Given the description of an element on the screen output the (x, y) to click on. 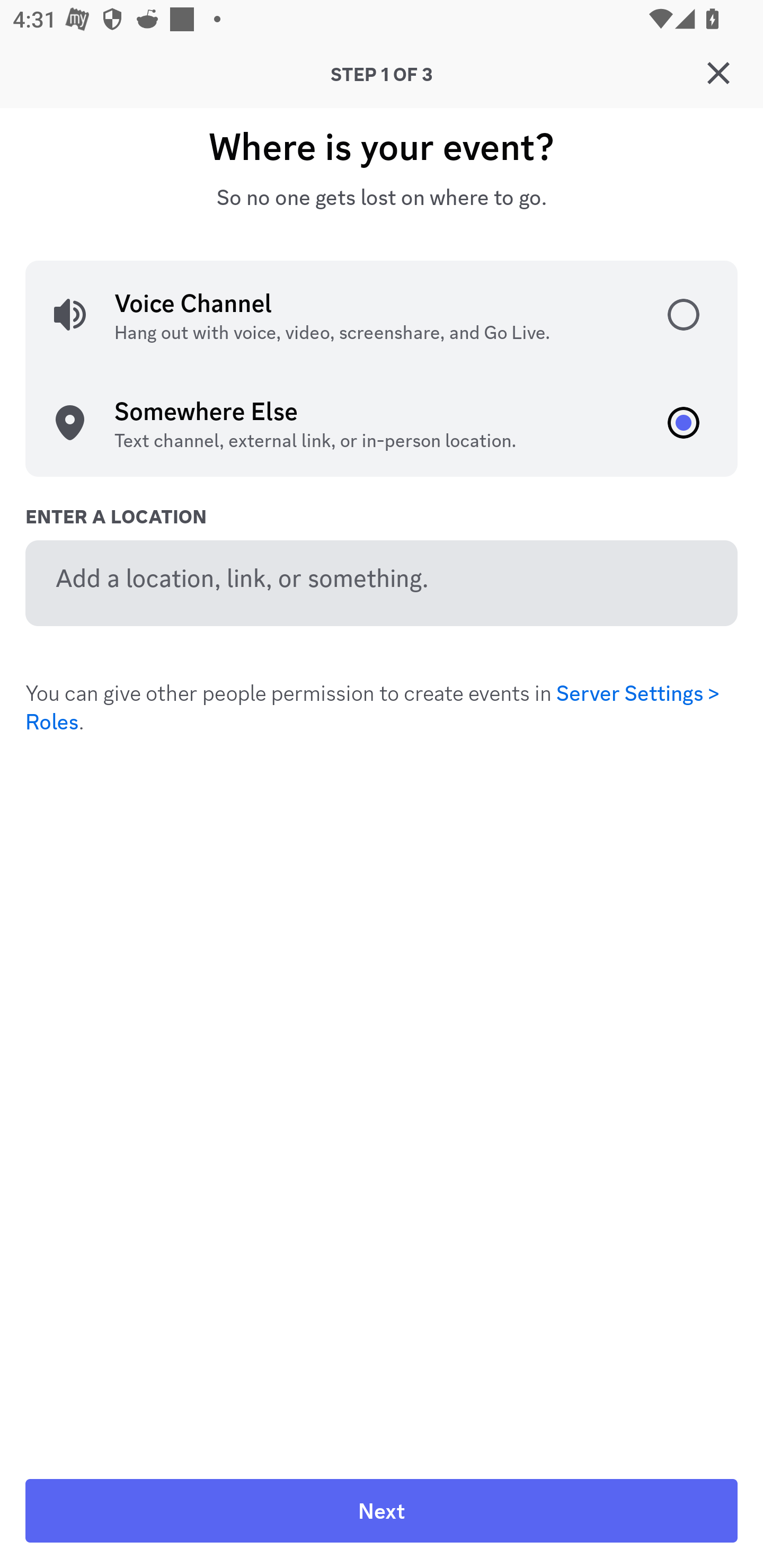
Close (718, 72)
Search (373, 165)
Text Channels (412, 404)
Add a location, link, or something. (381, 582)
Next (381, 1510)
